Given the description of an element on the screen output the (x, y) to click on. 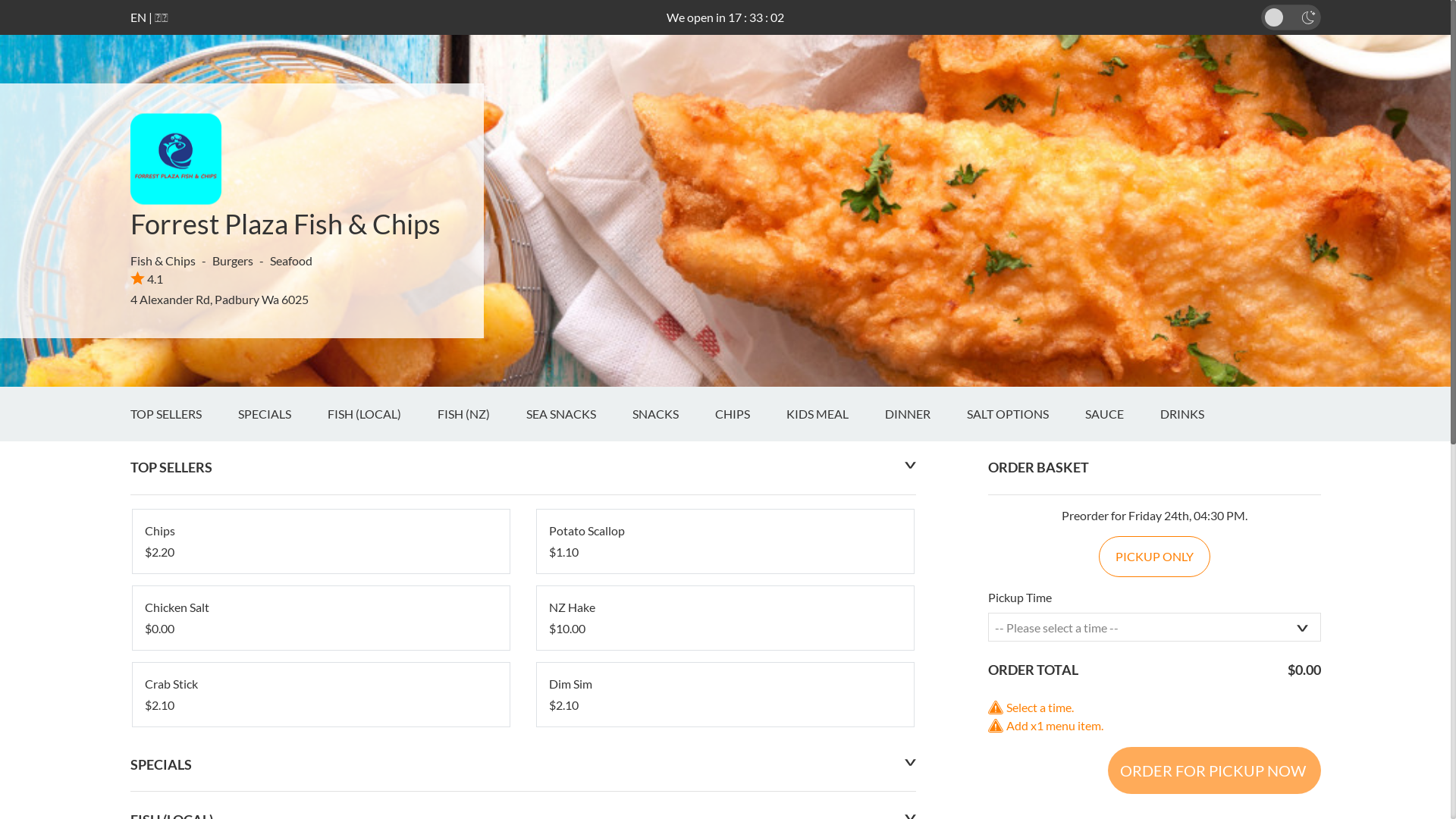
Dim Sim
$2.10 Element type: text (725, 694)
SEA SNACKS Element type: text (579, 413)
ORDER FOR PICKUP NOW  Element type: text (1213, 769)
PICKUP ONLY Element type: text (1154, 556)
Crab Stick
$2.10 Element type: text (320, 694)
Potato Scallop
$1.10 Element type: text (725, 541)
Chips
$2.20 Element type: text (320, 541)
SALT OPTIONS Element type: text (1025, 413)
SPECIALS Element type: text (282, 413)
KIDS MEAL Element type: text (834, 413)
Crab Stick
$2.10 Element type: text (320, 694)
Potato Scallop
$1.10 Element type: text (725, 541)
FISH (NZ) Element type: text (480, 413)
DINNER Element type: text (925, 413)
Forrest Plaza Fish & Chips Element type: text (285, 223)
Chips
$2.20 Element type: text (320, 541)
TOP SELLERS Element type: text (184, 413)
EN Element type: text (138, 16)
4.1 Element type: text (146, 278)
NZ Hake
$10.00 Element type: text (725, 617)
SNACKS Element type: text (673, 413)
NZ Hake
$10.00 Element type: text (725, 617)
Chicken Salt
$0.00 Element type: text (320, 617)
FISH (LOCAL) Element type: text (382, 413)
Chicken Salt
$0.00 Element type: text (320, 617)
SAUCE Element type: text (1121, 413)
CHIPS Element type: text (749, 413)
Dim Sim
$2.10 Element type: text (725, 694)
DRINKS Element type: text (1200, 413)
